Given the description of an element on the screen output the (x, y) to click on. 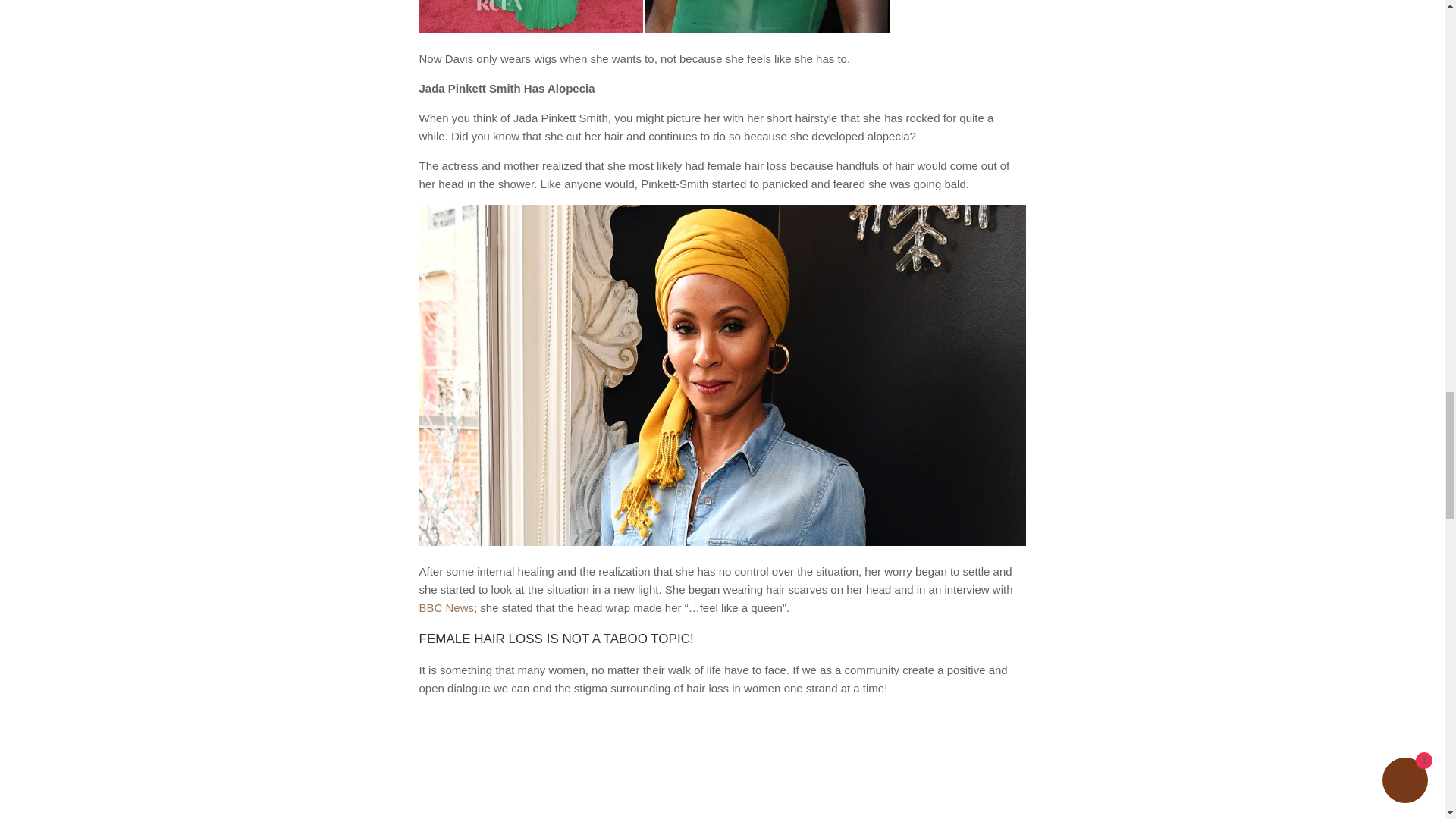
BBC News (446, 607)
